Given the description of an element on the screen output the (x, y) to click on. 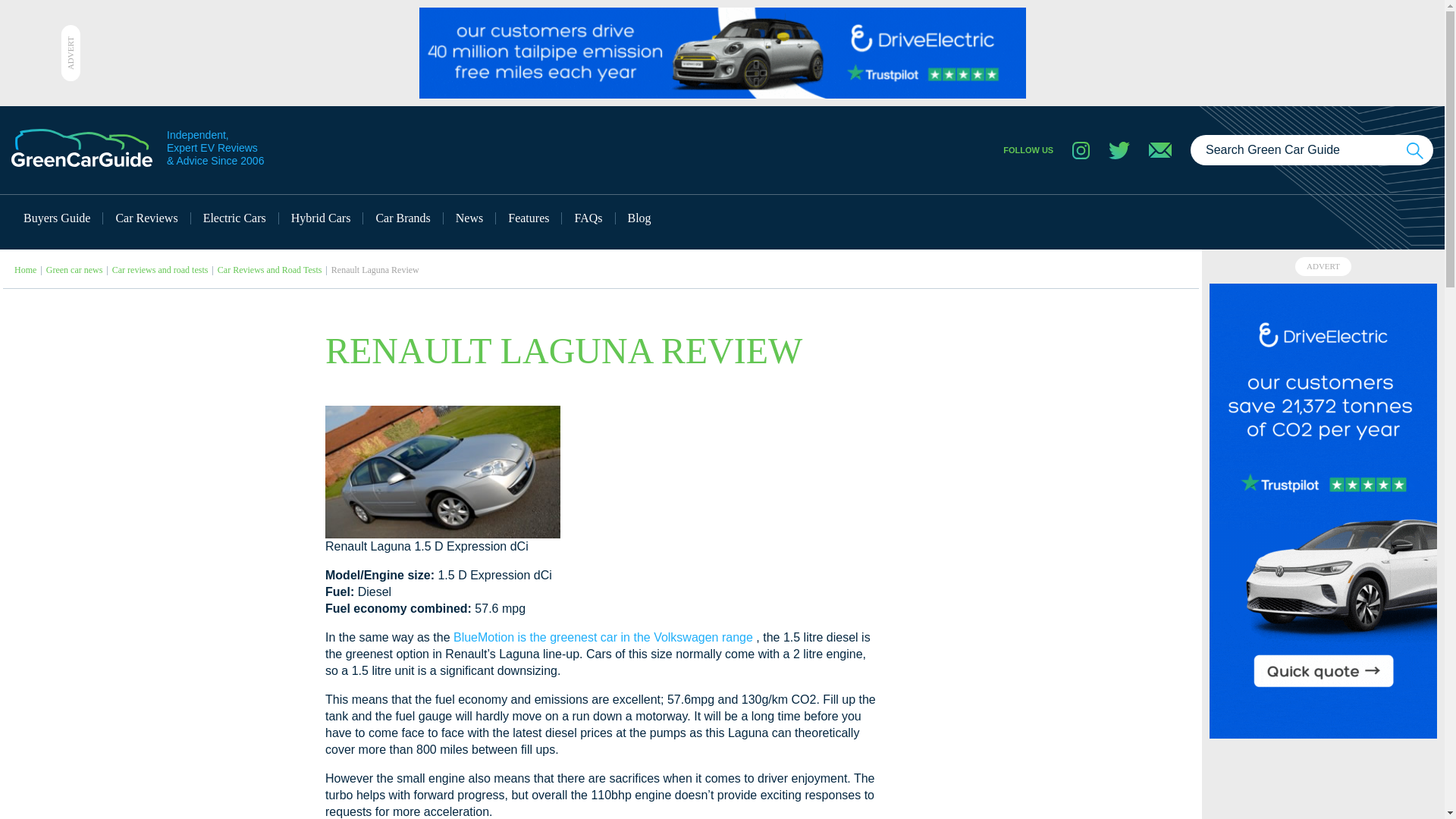
Search (1414, 150)
Electric Cars (234, 218)
Search (1414, 150)
Go to Car reviews and road tests. (160, 269)
Car Reviews (146, 218)
Go to GreenCarGuide.co.uk. (25, 269)
Buyers Guide (57, 218)
Volkswagen BlueMotion (600, 636)
Go to Green car news. (74, 269)
Go to the Car Reviews and Road Tests category archives. (268, 269)
